Given the description of an element on the screen output the (x, y) to click on. 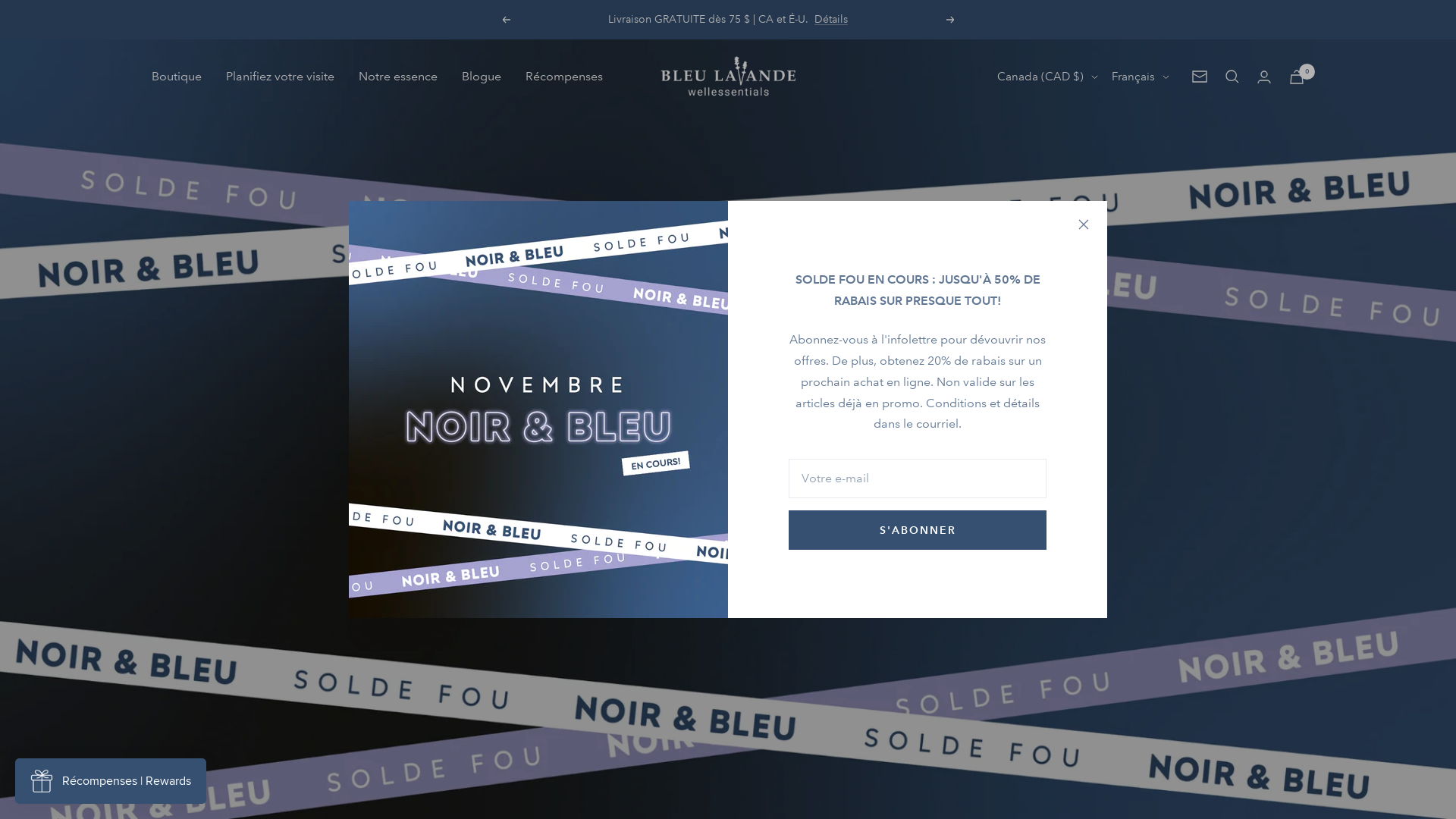
Blogue Element type: text (481, 76)
Notre essence Element type: text (397, 76)
CA Element type: text (1036, 130)
Suivant Element type: text (950, 19)
MAGASINER LES PRODUITS Element type: text (619, 483)
Newsletter Element type: text (1199, 76)
VOIR LES PROMOTIONS Element type: text (836, 483)
Smile.io Rewards Program Launcher Element type: hover (110, 780)
Fermer Element type: hover (1083, 224)
Bleu Lavande Element type: text (727, 76)
S'ABONNER Element type: text (917, 529)
en Element type: text (1133, 156)
Boutique Element type: text (176, 76)
fr Element type: text (1133, 130)
Canada (CAD $) Element type: text (1047, 77)
Planifiez votre visite Element type: text (279, 76)
US Element type: text (1036, 156)
0 Element type: text (1296, 76)
